Given the description of an element on the screen output the (x, y) to click on. 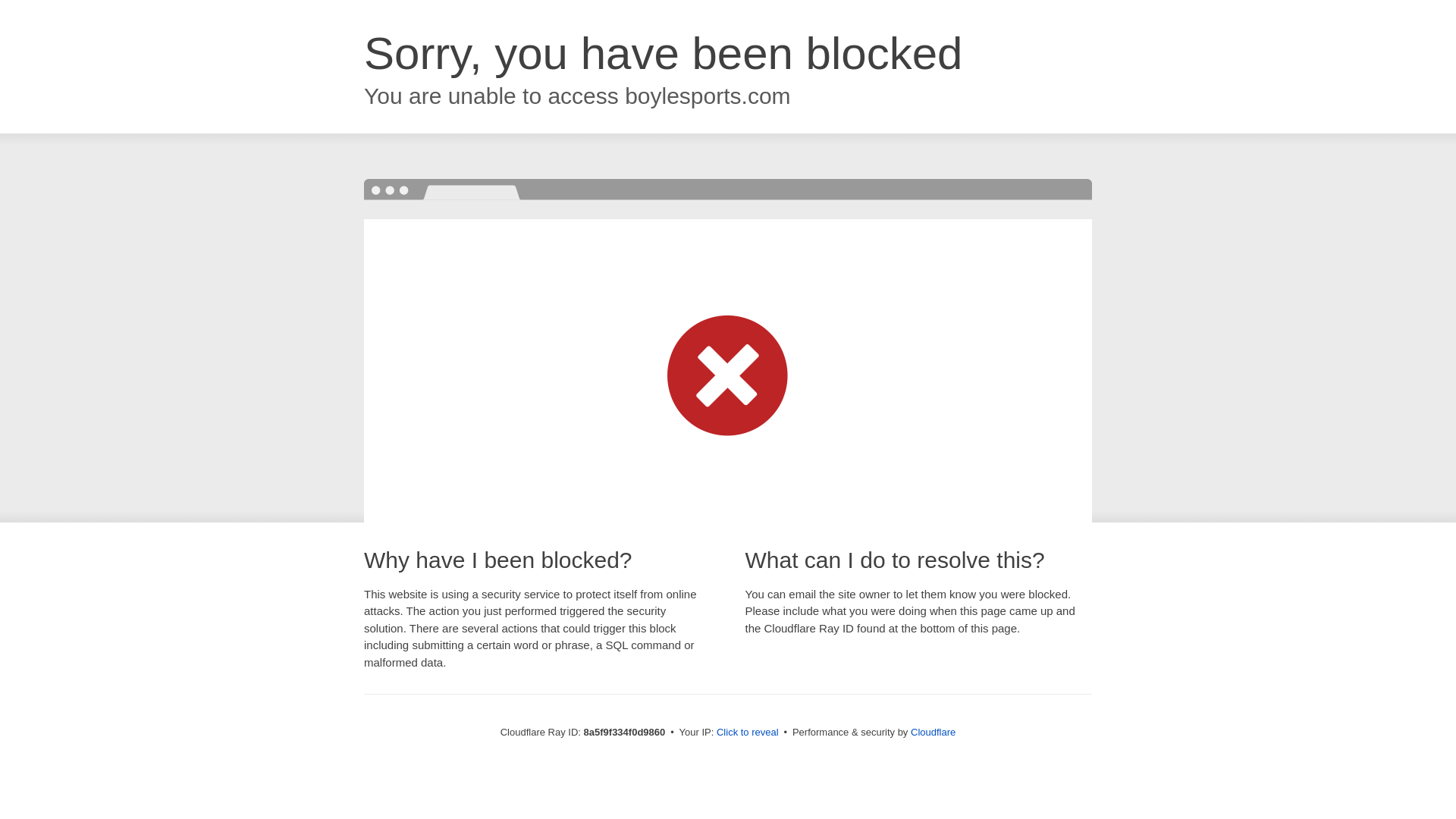
Cloudflare (933, 731)
Click to reveal (747, 732)
